Given the description of an element on the screen output the (x, y) to click on. 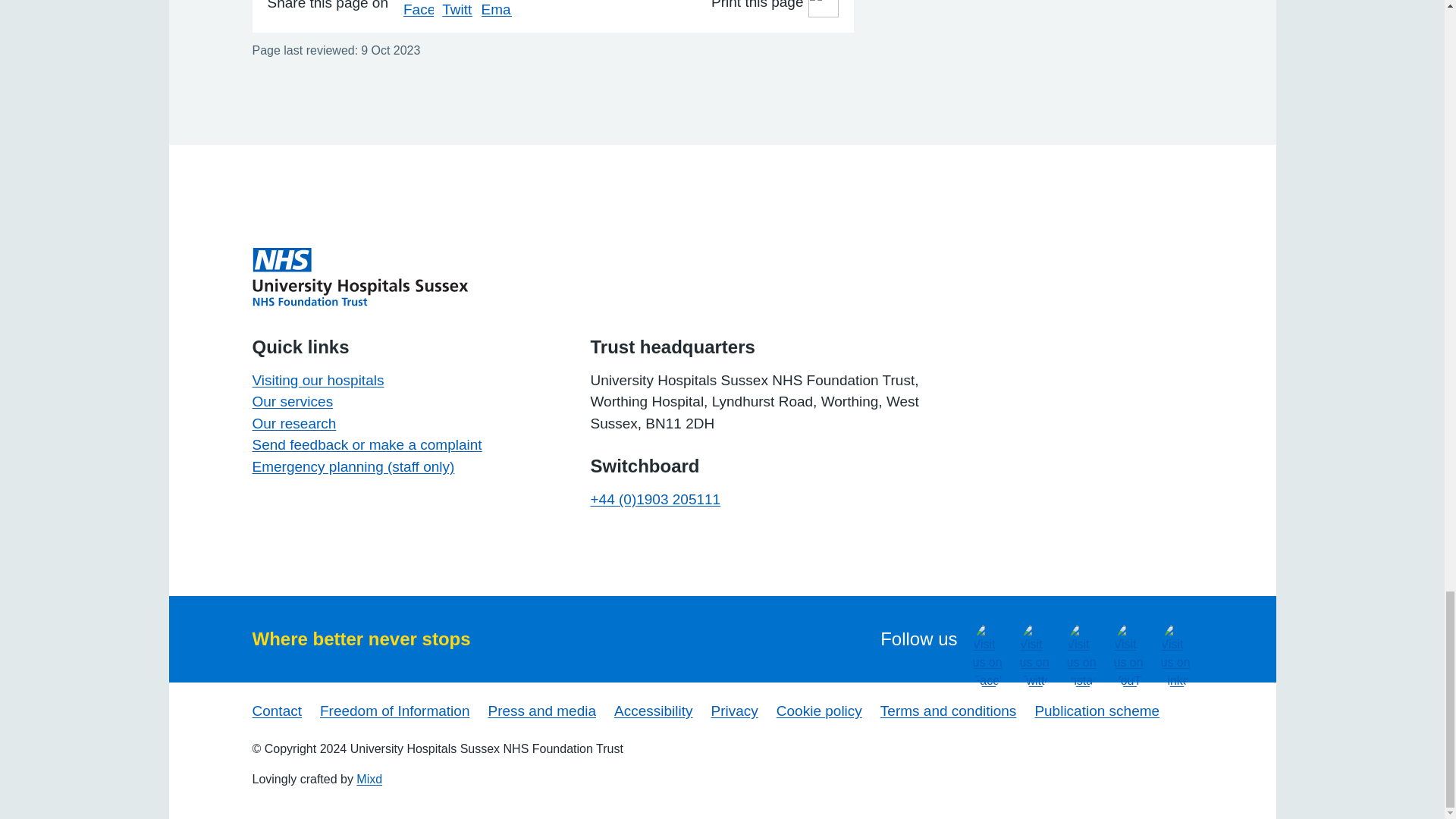
Share on Twitter (456, 8)
Share via Email (496, 8)
Share on Facebook (418, 8)
Excellence as our standard (359, 276)
